Given the description of an element on the screen output the (x, y) to click on. 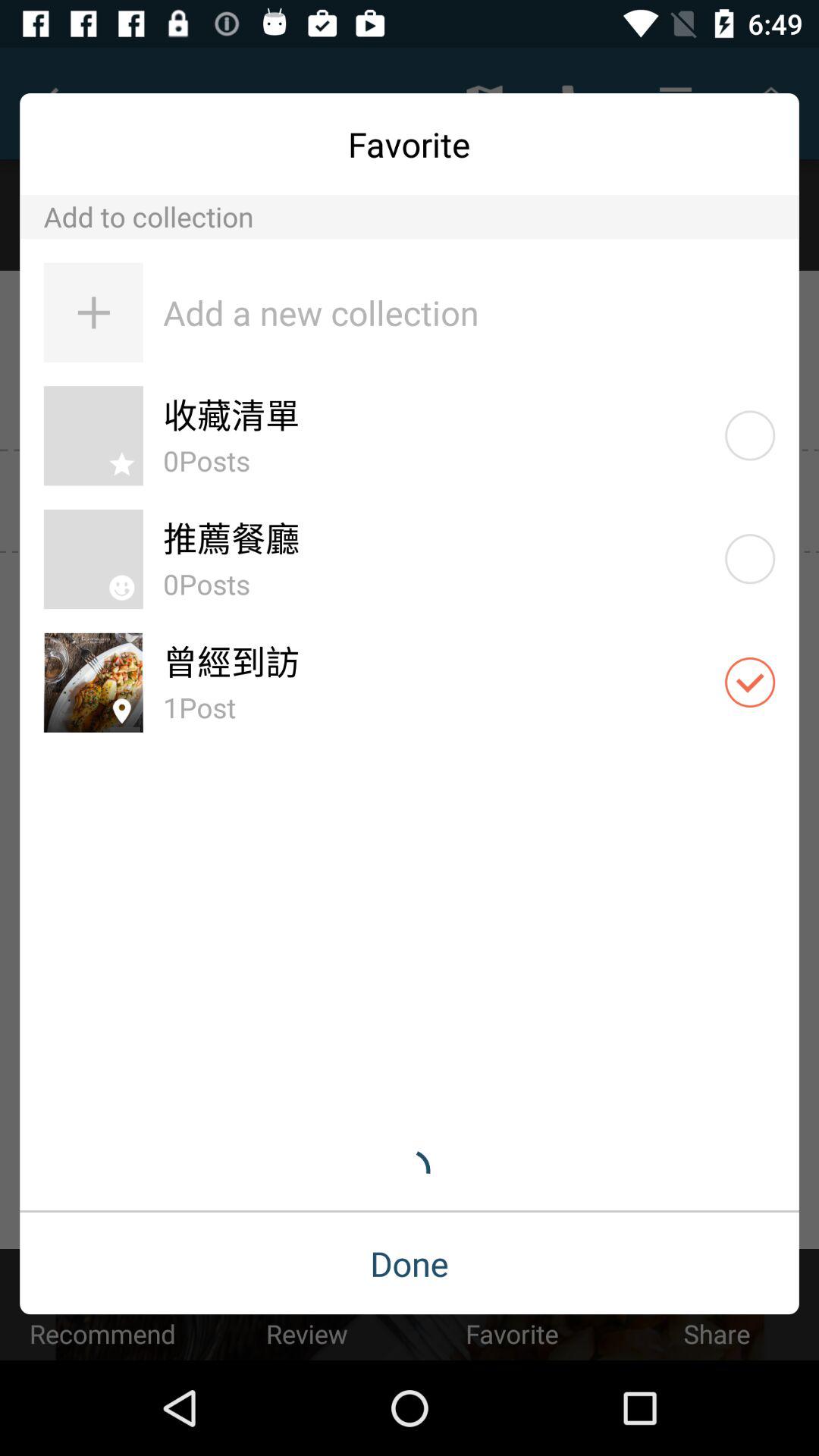
launch the done item (409, 1263)
